Given the description of an element on the screen output the (x, y) to click on. 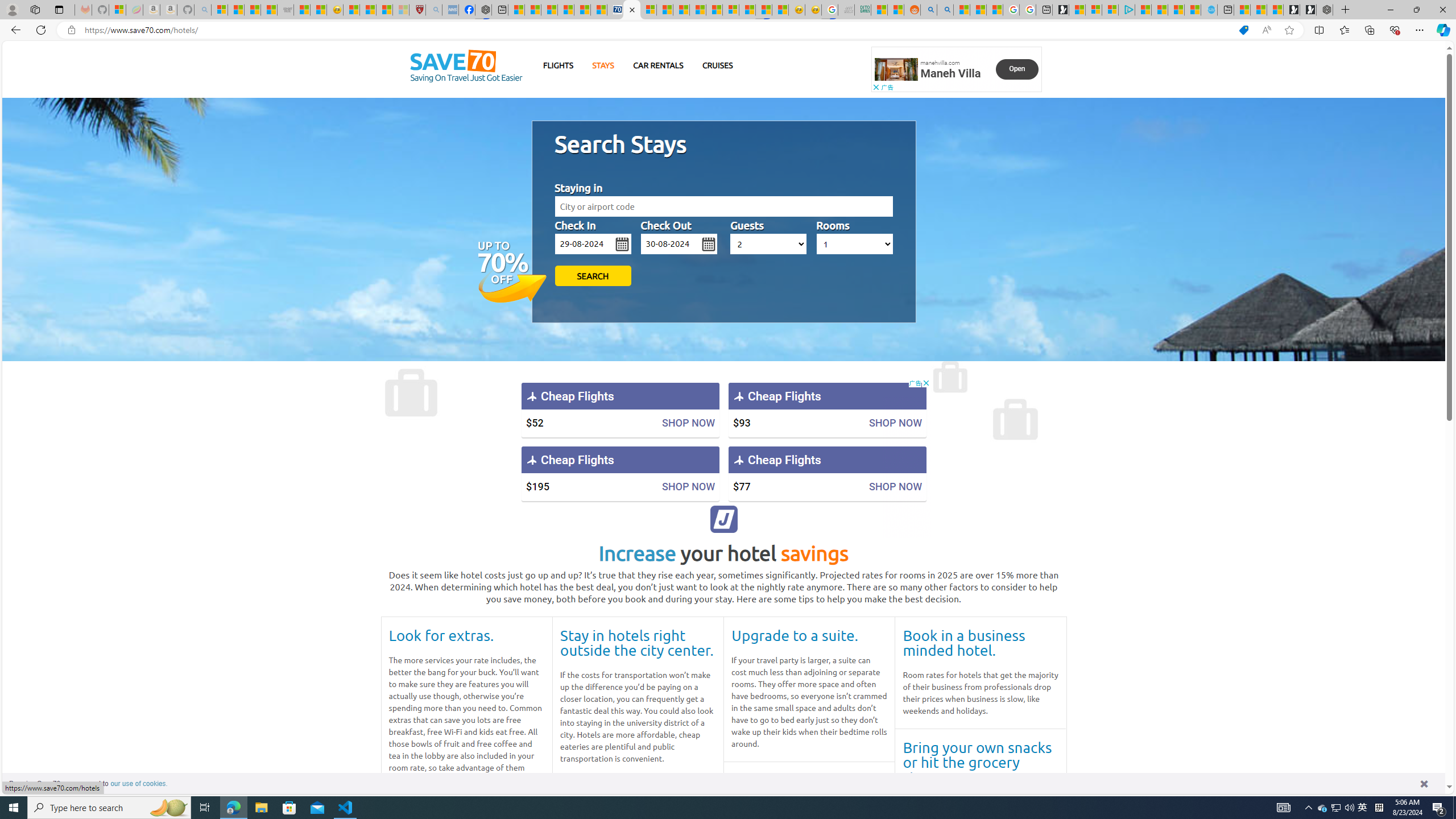
FLIGHTS (558, 65)
CRUISES (717, 65)
